Given the description of an element on the screen output the (x, y) to click on. 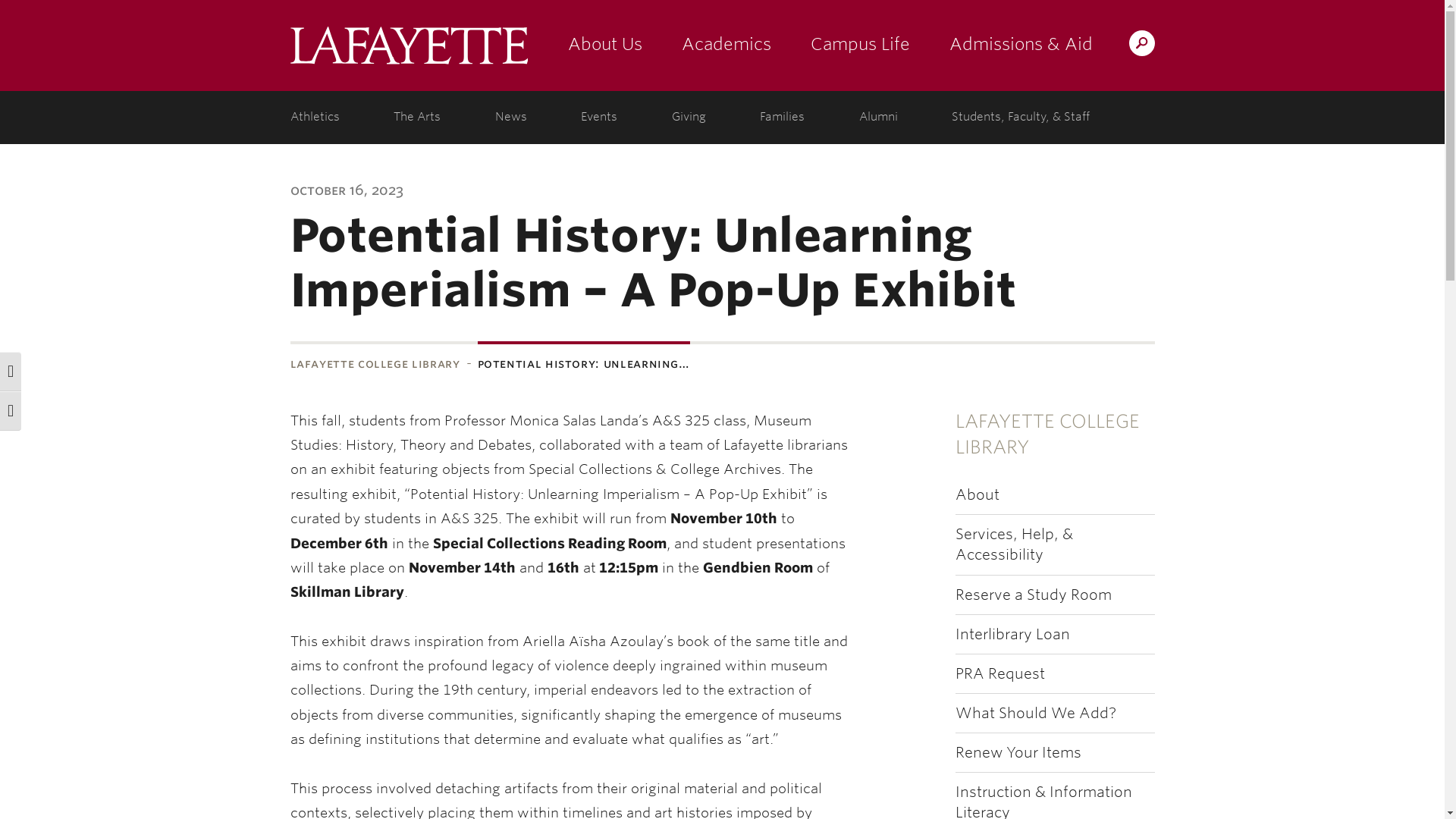
Academics (725, 45)
Search Lafayette.edu (1141, 43)
Lafayette College (408, 45)
Campus Life (859, 45)
Search (842, 42)
About Us (603, 45)
